Given the description of an element on the screen output the (x, y) to click on. 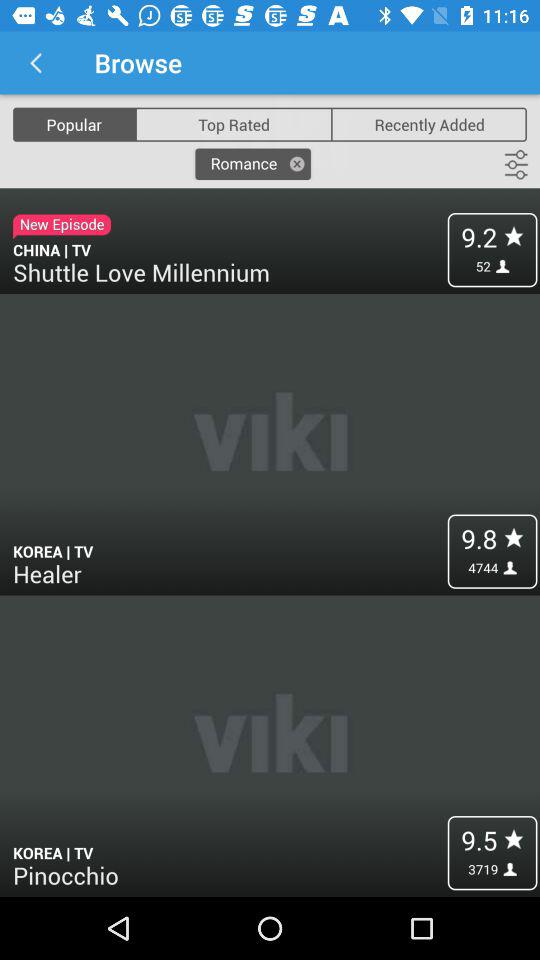
turn off app to the left of the browse (36, 62)
